Given the description of an element on the screen output the (x, y) to click on. 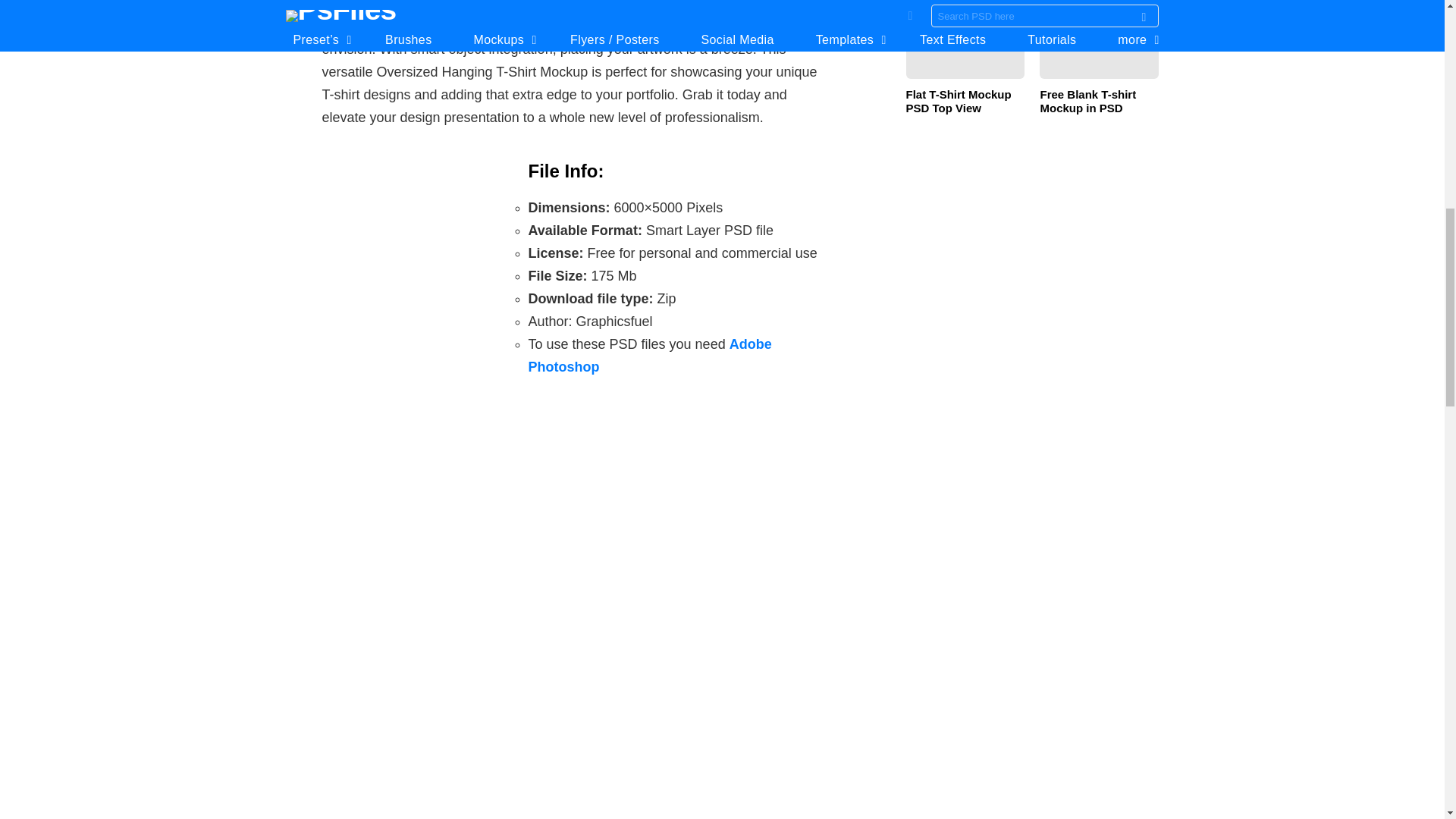
Free Blank T-shirt Mockup in PSD (1098, 45)
Flat T-Shirt Mockup PSD Top View (965, 45)
